Given the description of an element on the screen output the (x, y) to click on. 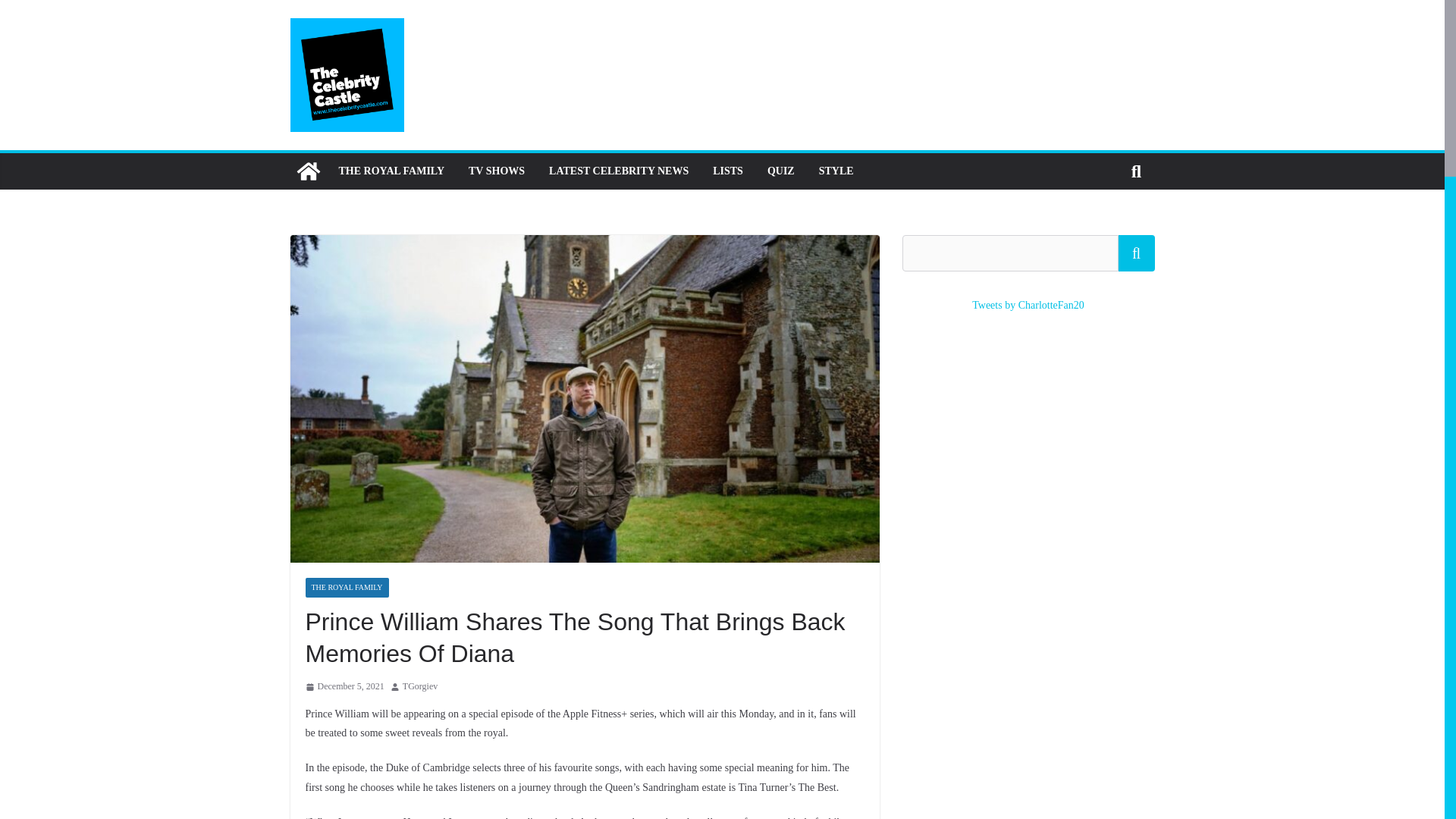
LATEST CELEBRITY NEWS (618, 170)
December 5, 2021 (344, 686)
Search (1136, 253)
TGorgiev (420, 686)
11:20 pm (344, 686)
LISTS (727, 170)
QUIZ (780, 170)
STYLE (835, 170)
THE ROYAL FAMILY (390, 170)
THE ROYAL FAMILY (346, 587)
TGorgiev (420, 686)
The Celebrity Castle (307, 171)
TV SHOWS (496, 170)
Tweets by CharlotteFan20 (1028, 305)
